Given the description of an element on the screen output the (x, y) to click on. 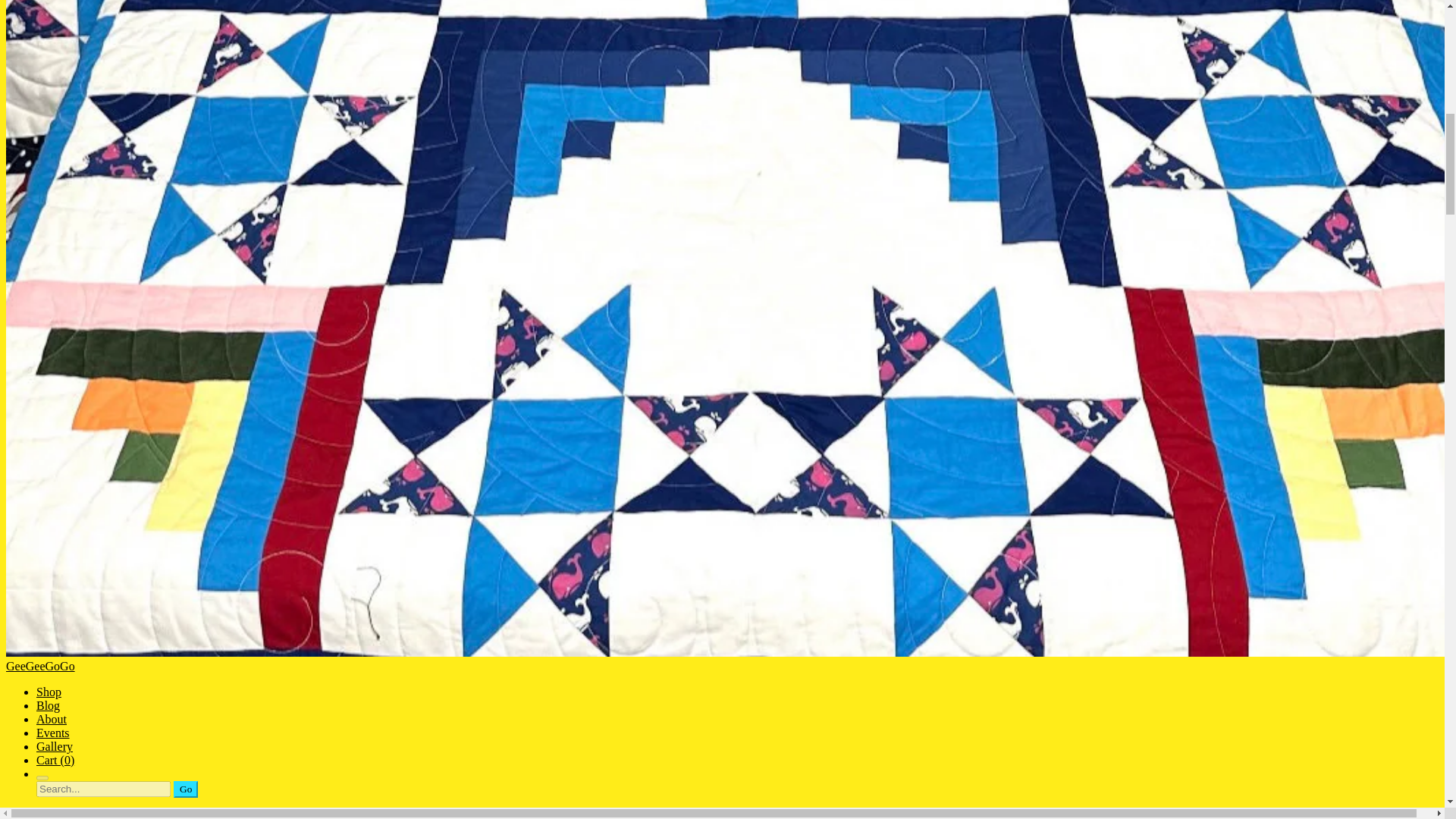
About (51, 718)
Shop (48, 691)
Gallery (54, 746)
Blog (47, 705)
Go (185, 789)
Events (52, 732)
Go (185, 789)
